Given the description of an element on the screen output the (x, y) to click on. 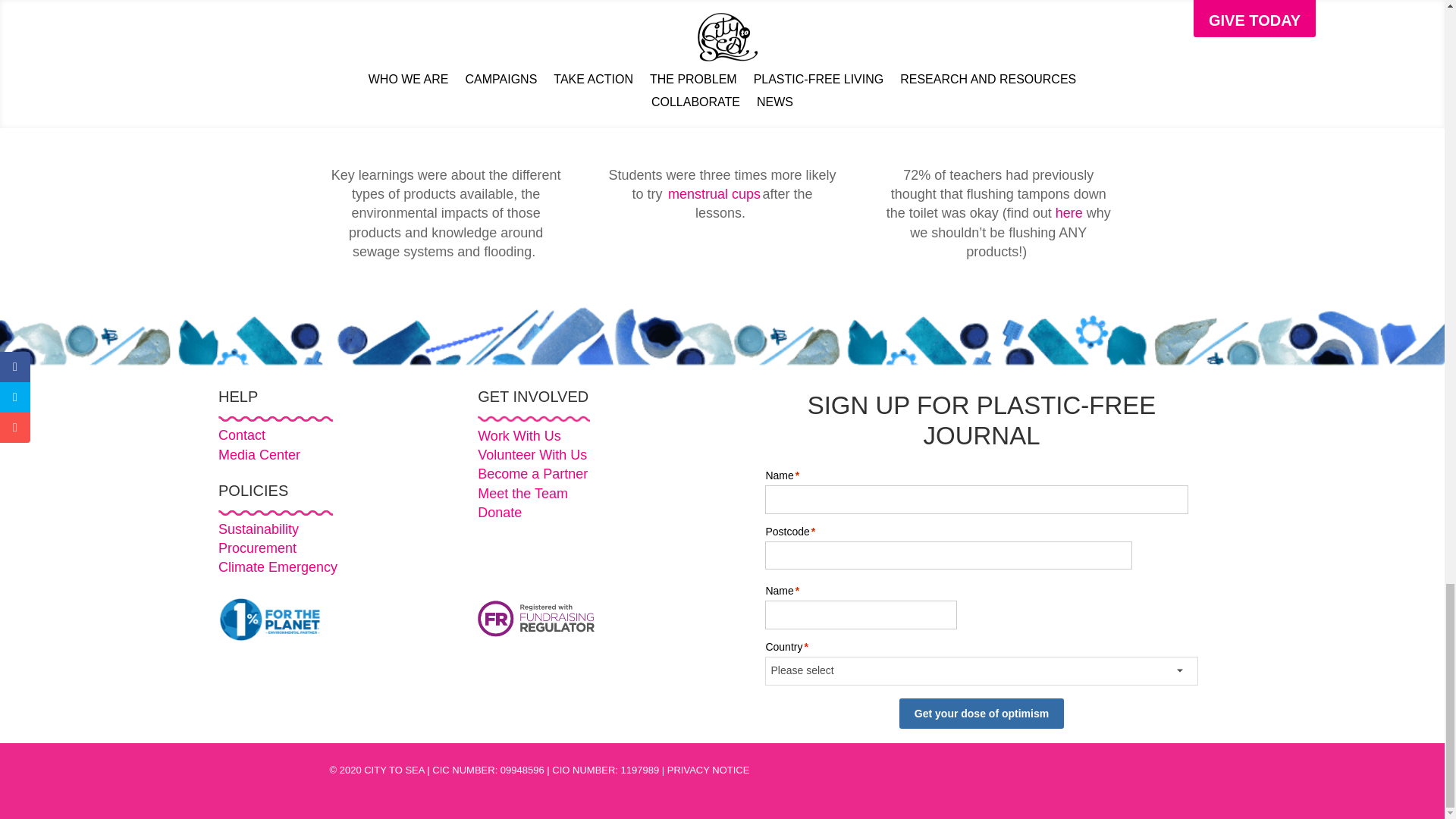
Pink wiggle (275, 512)
Pink wiggle (275, 418)
